Given the description of an element on the screen output the (x, y) to click on. 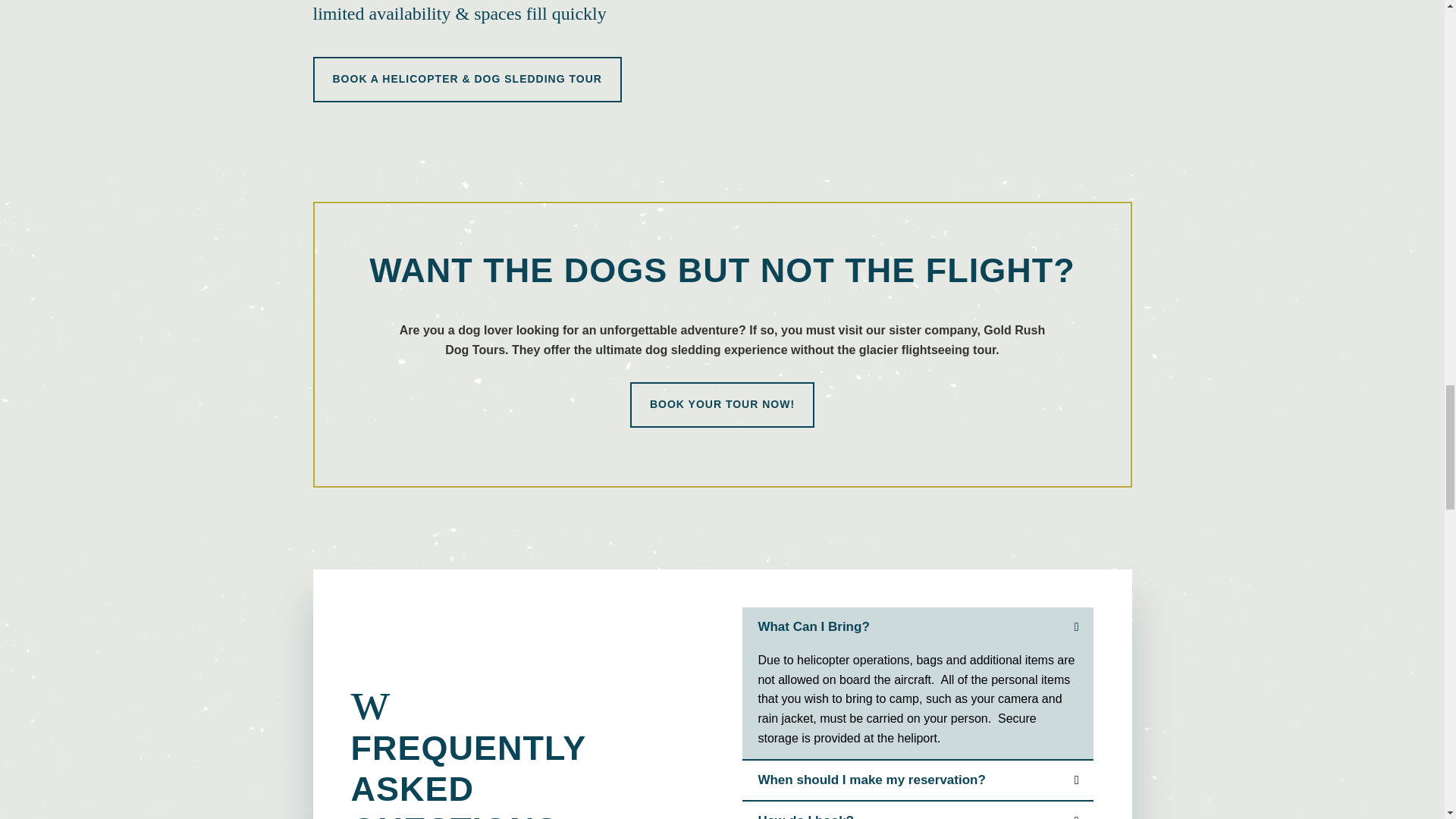
BOOK YOUR TOUR NOW! (721, 404)
